Given the description of an element on the screen output the (x, y) to click on. 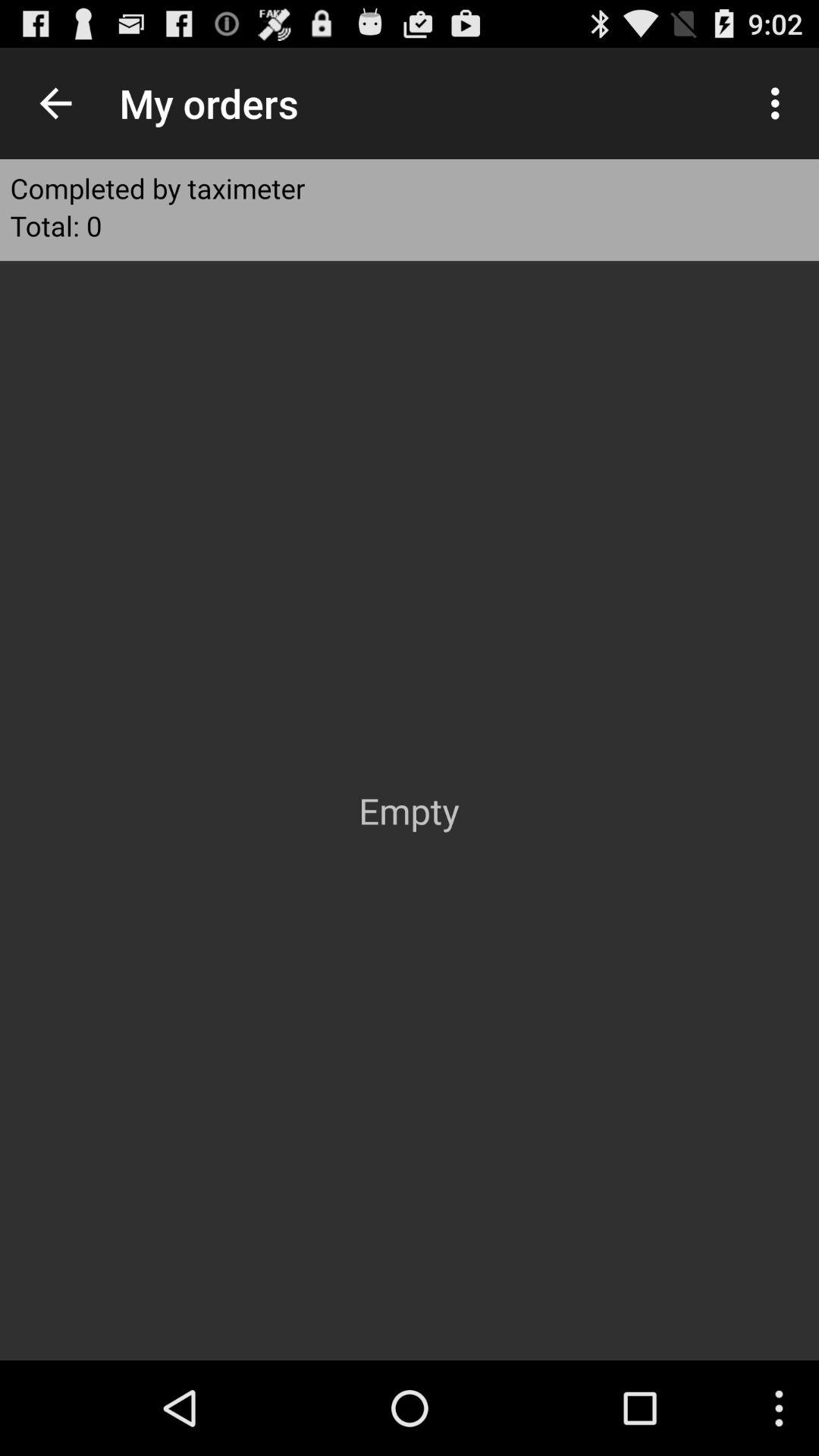
choose icon to the left of the my orders icon (55, 103)
